Given the description of an element on the screen output the (x, y) to click on. 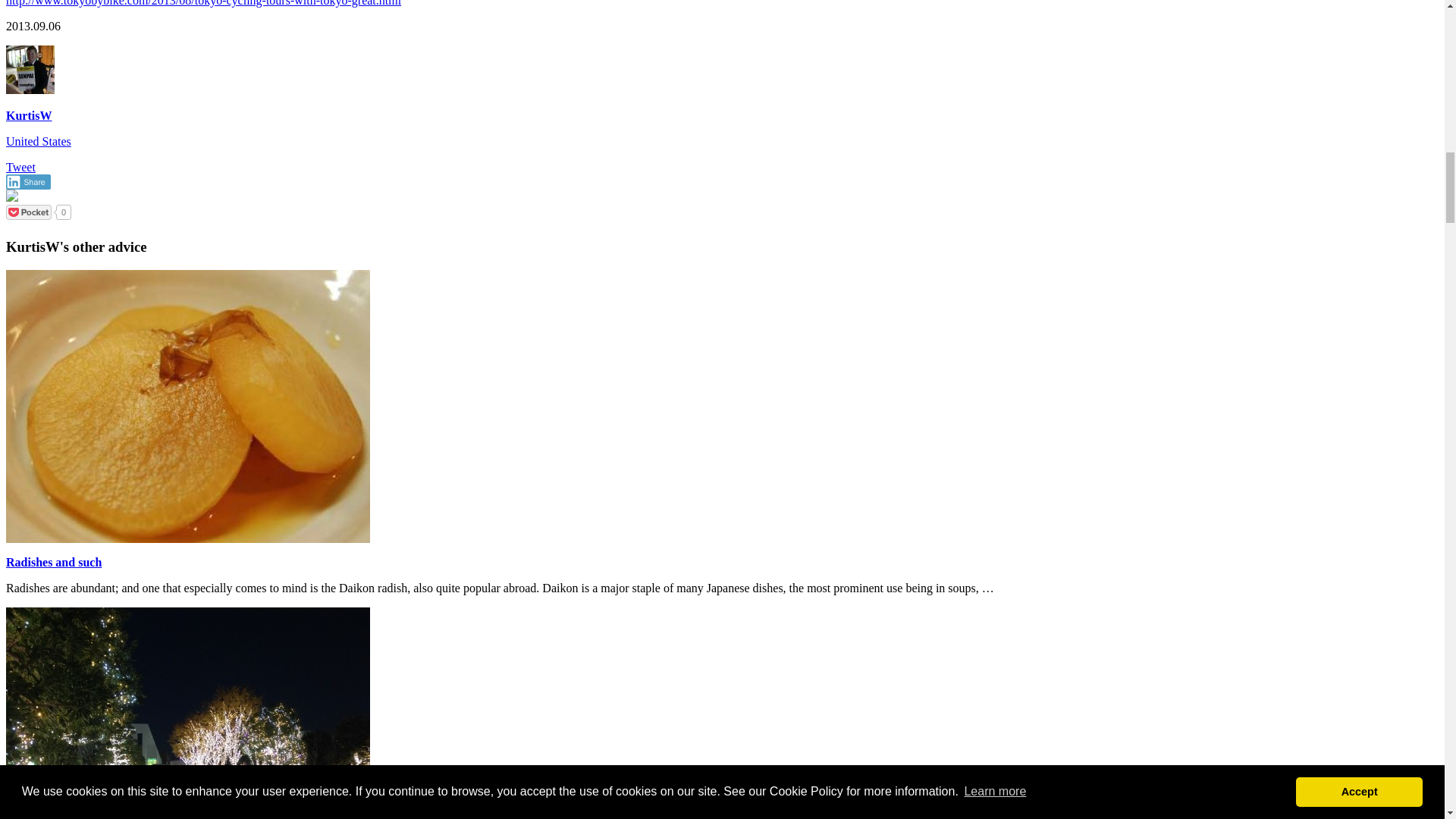
Share (27, 181)
Tweet (19, 166)
